Given the description of an element on the screen output the (x, y) to click on. 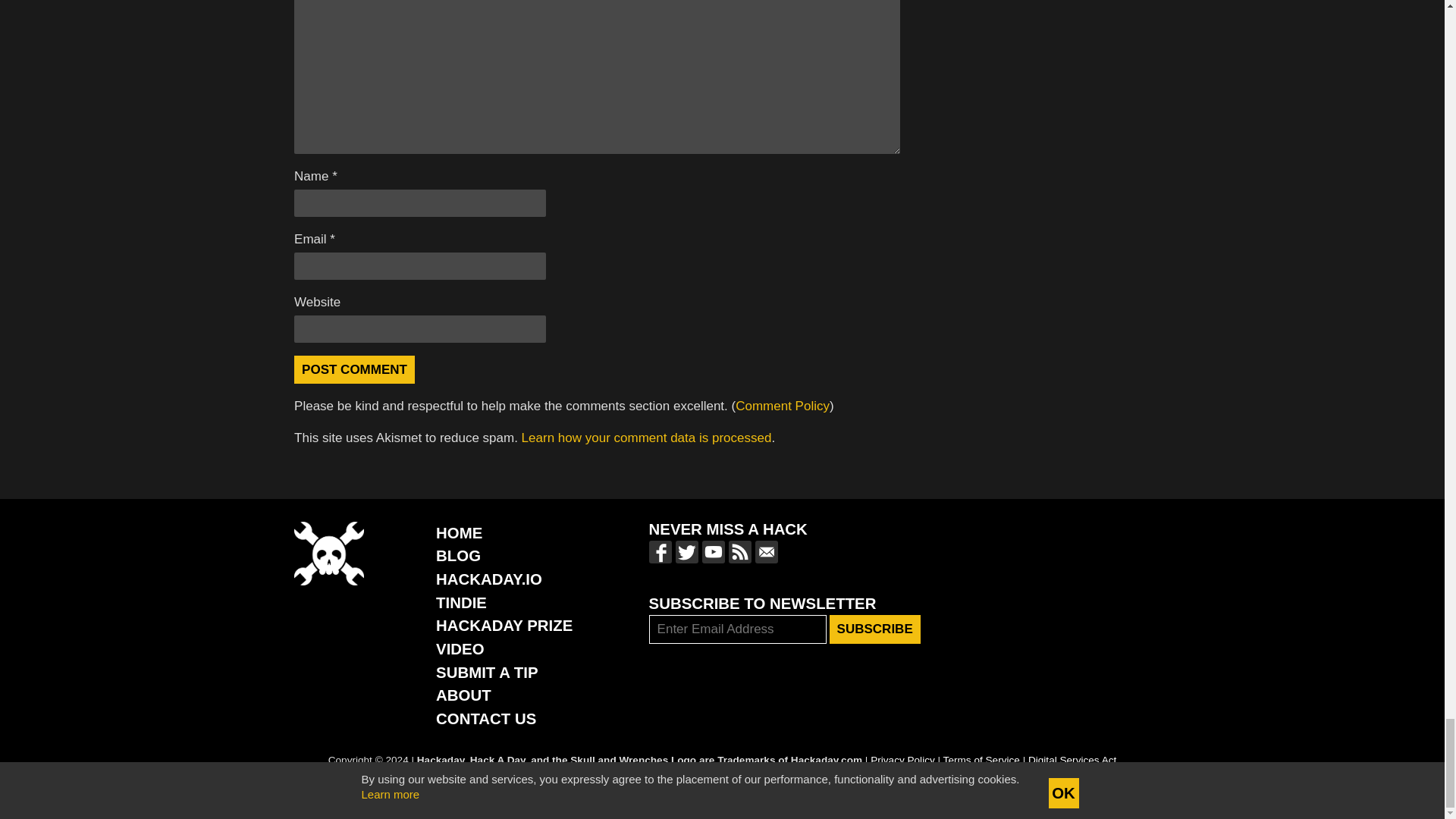
Build Something that Matters (503, 625)
Subscribe (874, 629)
Post Comment (354, 369)
